Given the description of an element on the screen output the (x, y) to click on. 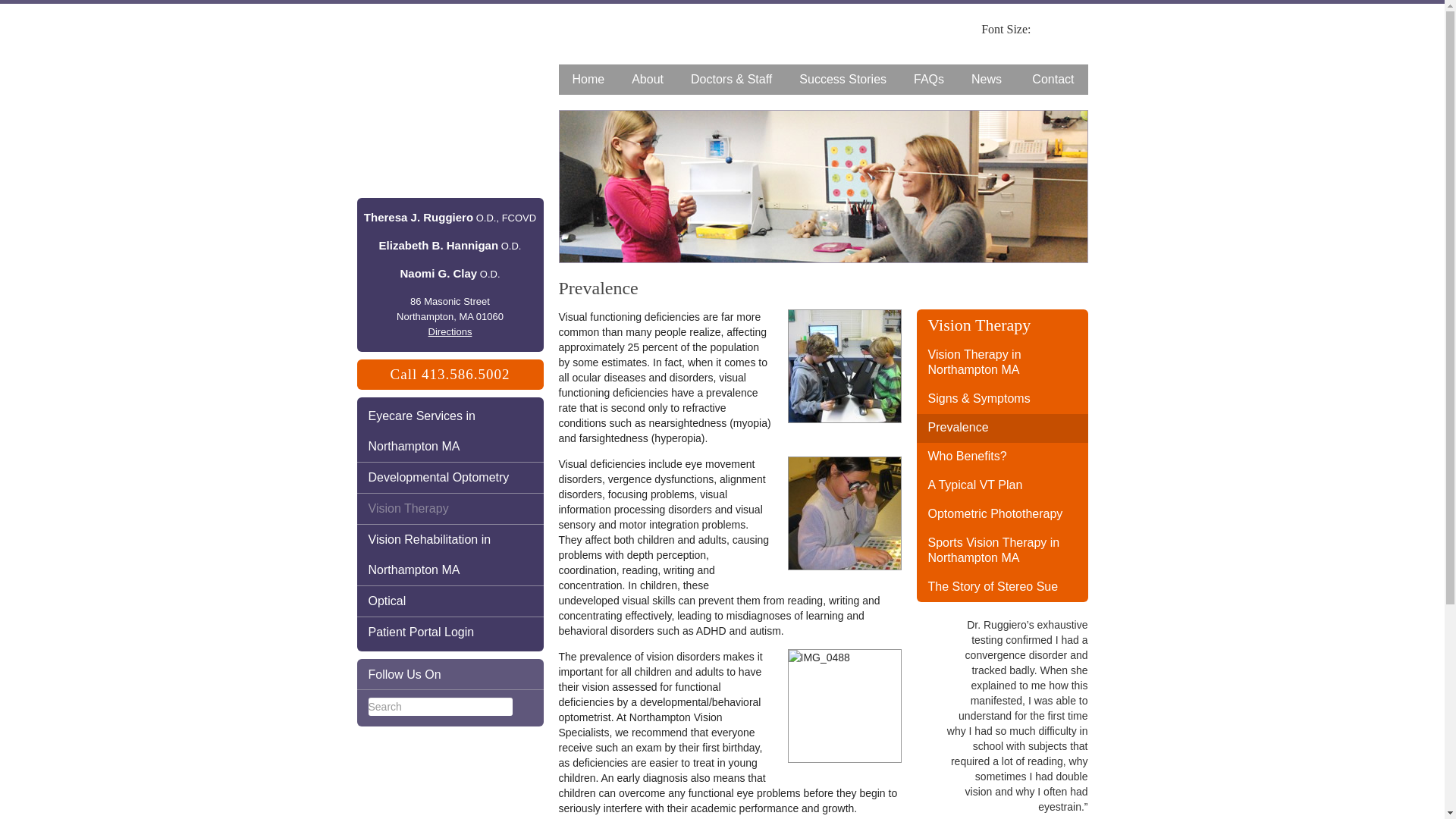
Who Benefits? (1001, 457)
Eyecare Services in Northampton MA (449, 431)
Prevalence (1001, 428)
Facebook (523, 674)
Vision Therapy (449, 508)
A Typical VT Plan (1001, 485)
Optometric Phototherapy (1001, 514)
Home (587, 79)
Success Stories (842, 79)
Increase font size (1080, 29)
